Given the description of an element on the screen output the (x, y) to click on. 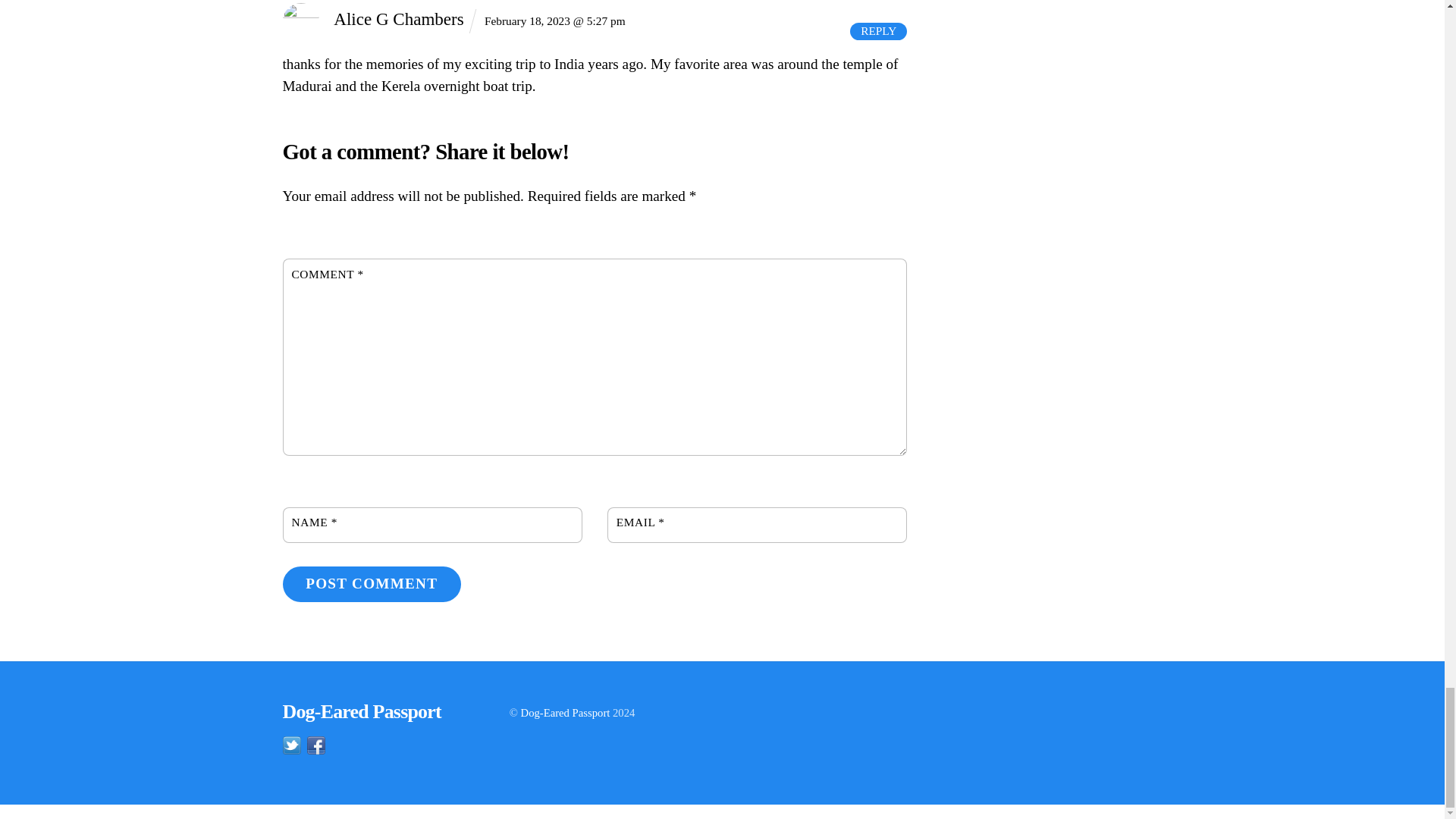
Post Comment (371, 583)
REPLY (878, 30)
Post Comment (371, 583)
Dog-Eared Passport (361, 711)
